Given the description of an element on the screen output the (x, y) to click on. 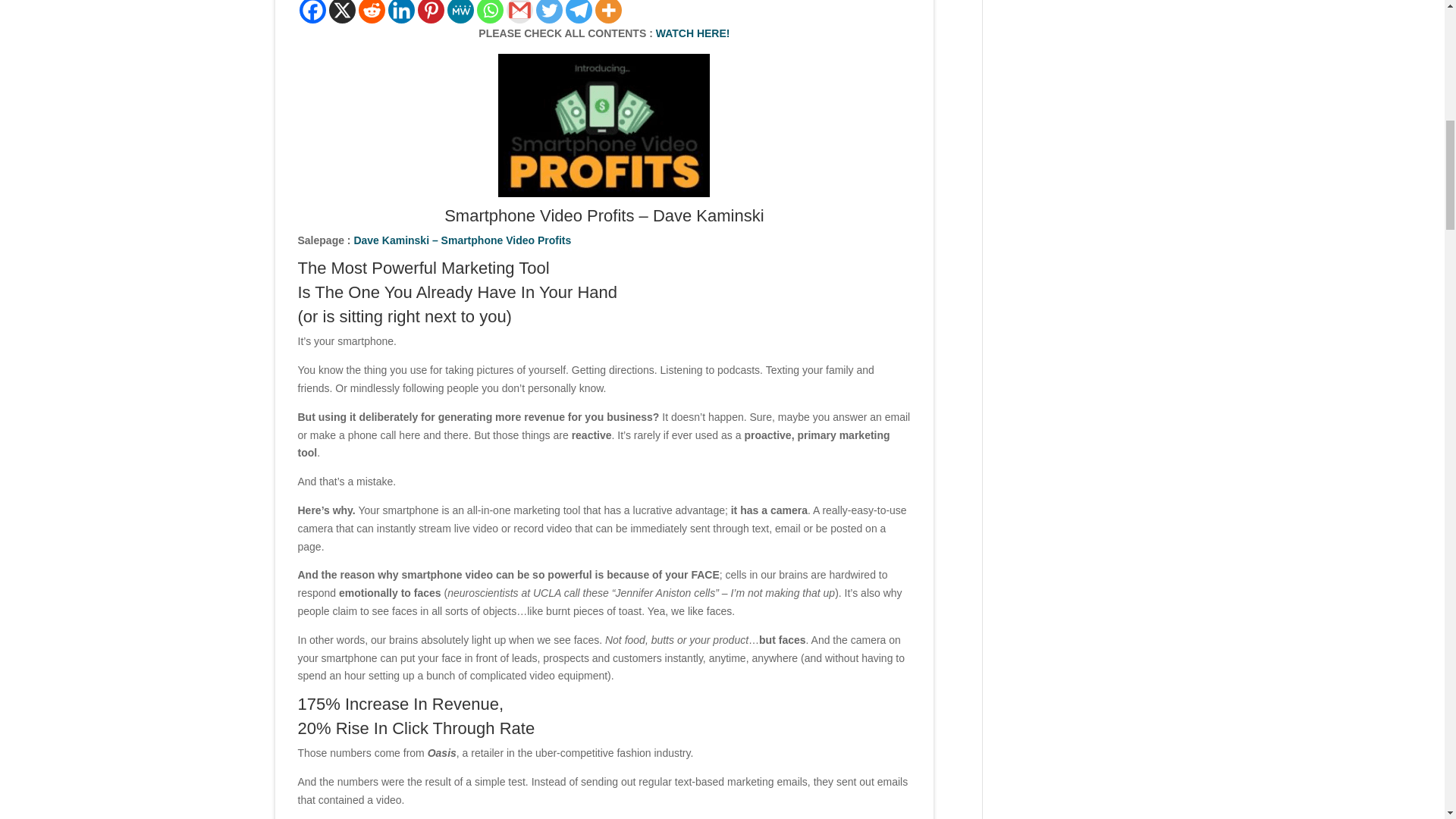
Whatsapp (489, 11)
More (607, 11)
Telegram (579, 11)
Twitter (548, 11)
Linkedin (401, 11)
Pinterest (430, 11)
Facebook (311, 11)
Reddit (371, 11)
X (342, 11)
Google Gmail (519, 11)
